Given the description of an element on the screen output the (x, y) to click on. 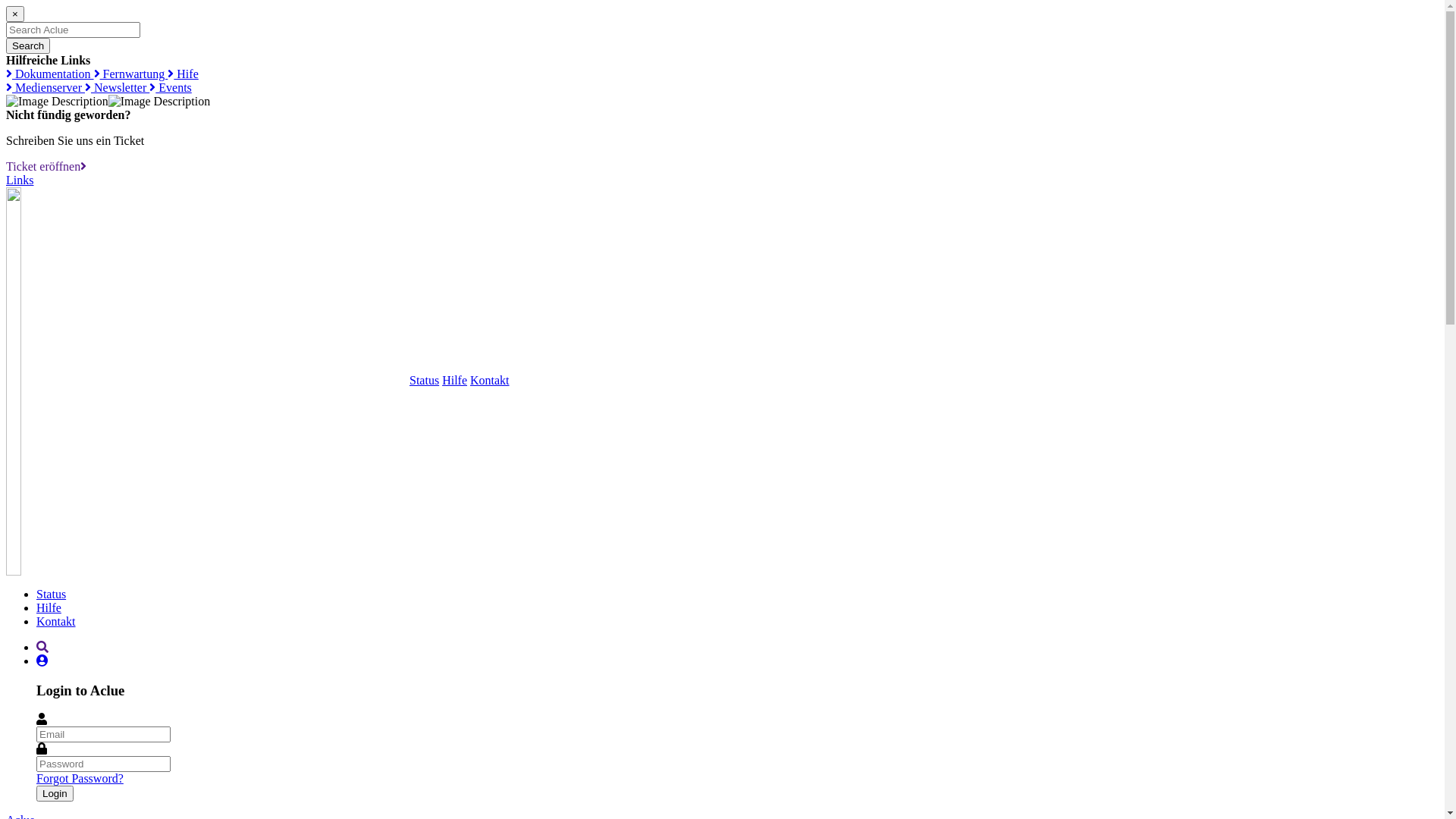
Kontakt Element type: text (489, 379)
Kontakt Element type: text (55, 621)
Login Element type: text (54, 793)
Links Element type: text (19, 179)
Hilfe Element type: text (454, 379)
Newsletter Element type: text (116, 87)
Events Element type: text (170, 87)
Medienserver Element type: text (45, 87)
Status Element type: text (50, 593)
Status Element type: text (222, 379)
Forgot Password? Element type: text (79, 777)
Dokumentation Element type: text (50, 73)
Hilfe Element type: text (48, 607)
Fernwartung Element type: text (131, 73)
Search Element type: text (28, 45)
Hife Element type: text (182, 73)
